Given the description of an element on the screen output the (x, y) to click on. 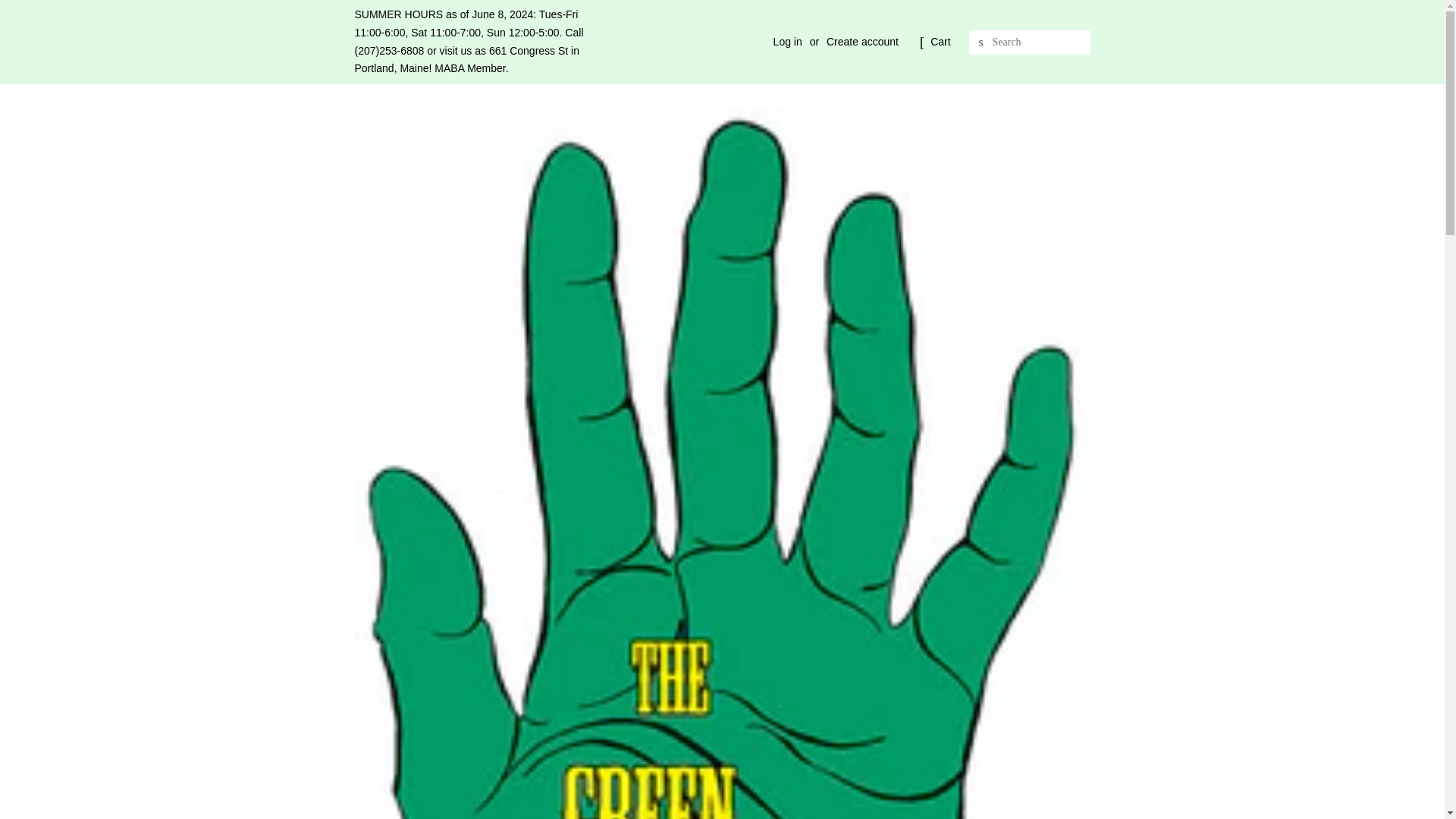
Cart (940, 42)
Create account (862, 41)
Log in (787, 41)
Search (980, 42)
